Given the description of an element on the screen output the (x, y) to click on. 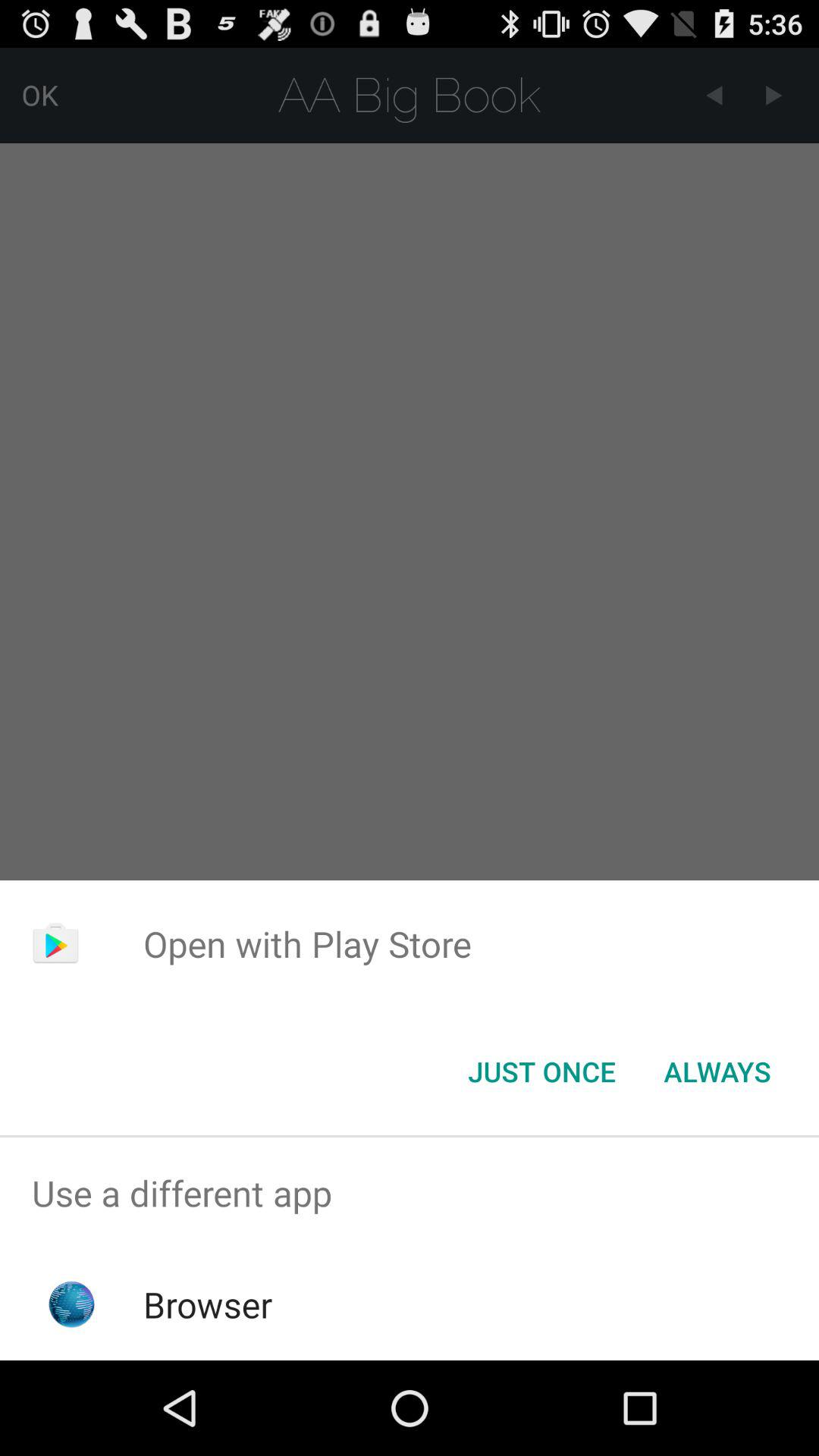
swipe until always icon (717, 1071)
